Given the description of an element on the screen output the (x, y) to click on. 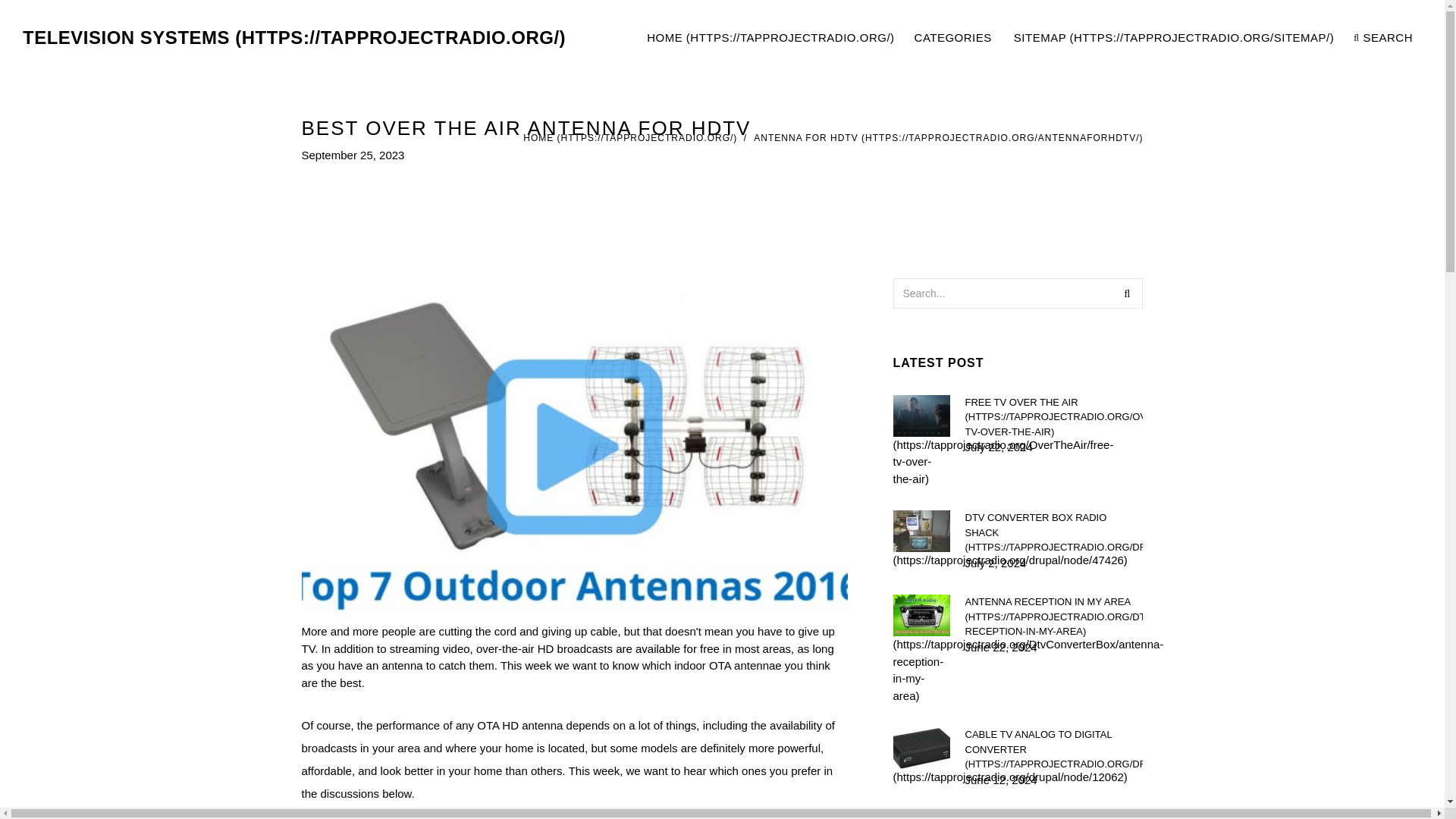
FREE TV OVER THE AIR (1029, 38)
TELEVISION SYSTEMS (1052, 415)
HOME (294, 38)
Search (769, 38)
SEARCH (1126, 292)
ANTENNA RECEPTION IN MY AREA (1382, 38)
ANTENNA FOR HDTV (1052, 616)
HOME (948, 137)
CABLE TV ANALOG TO DIGITAL CONVERTER (629, 137)
SITEMAP (1052, 749)
DTV CONVERTER BOX RADIO SHACK (1173, 38)
CATEGORIES (1052, 532)
TELEVISION DIGITAL MEXICO (954, 38)
Television Systems (1052, 815)
